Given the description of an element on the screen output the (x, y) to click on. 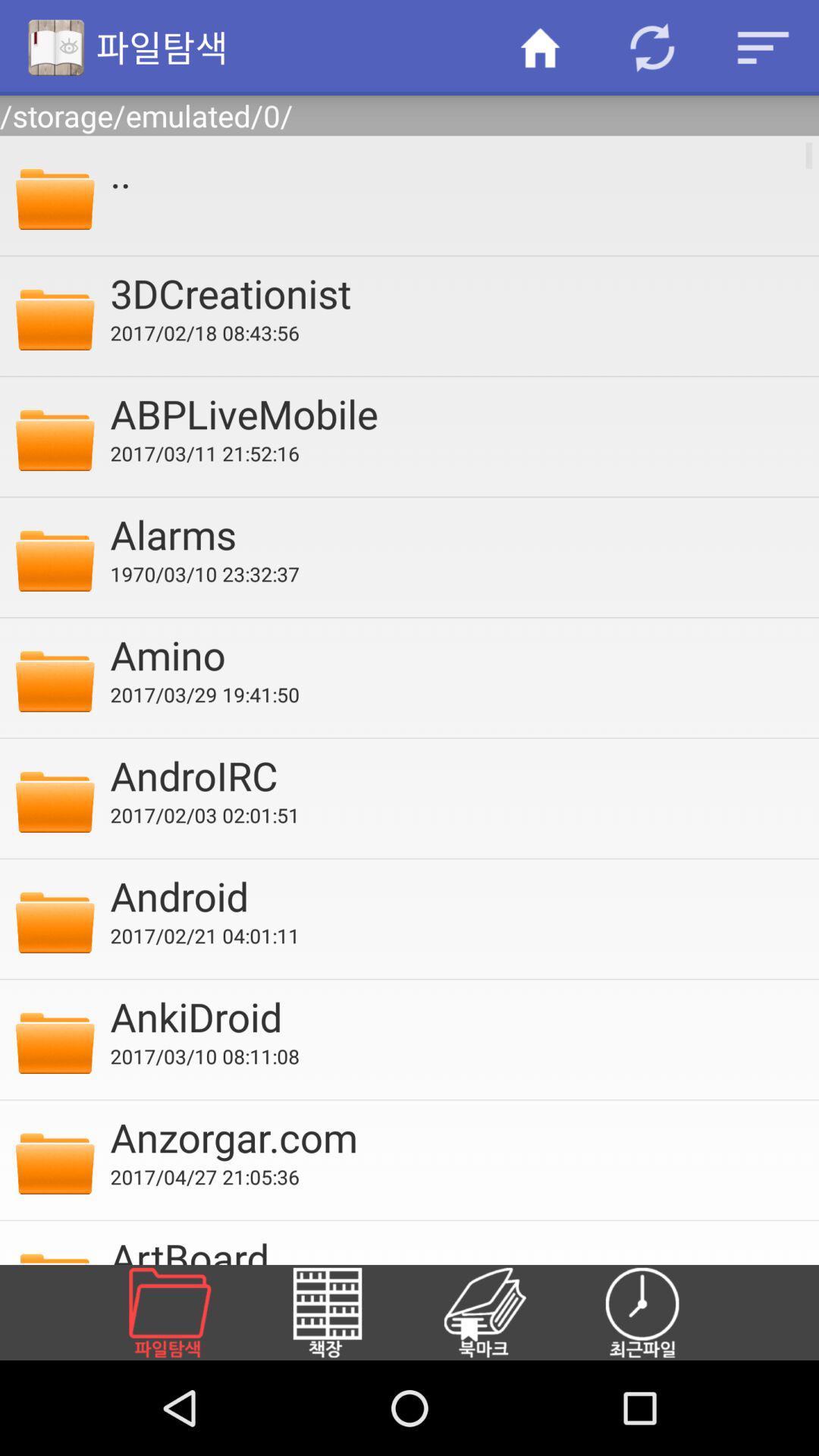
click icon above the 2017 02 18 icon (454, 292)
